Given the description of an element on the screen output the (x, y) to click on. 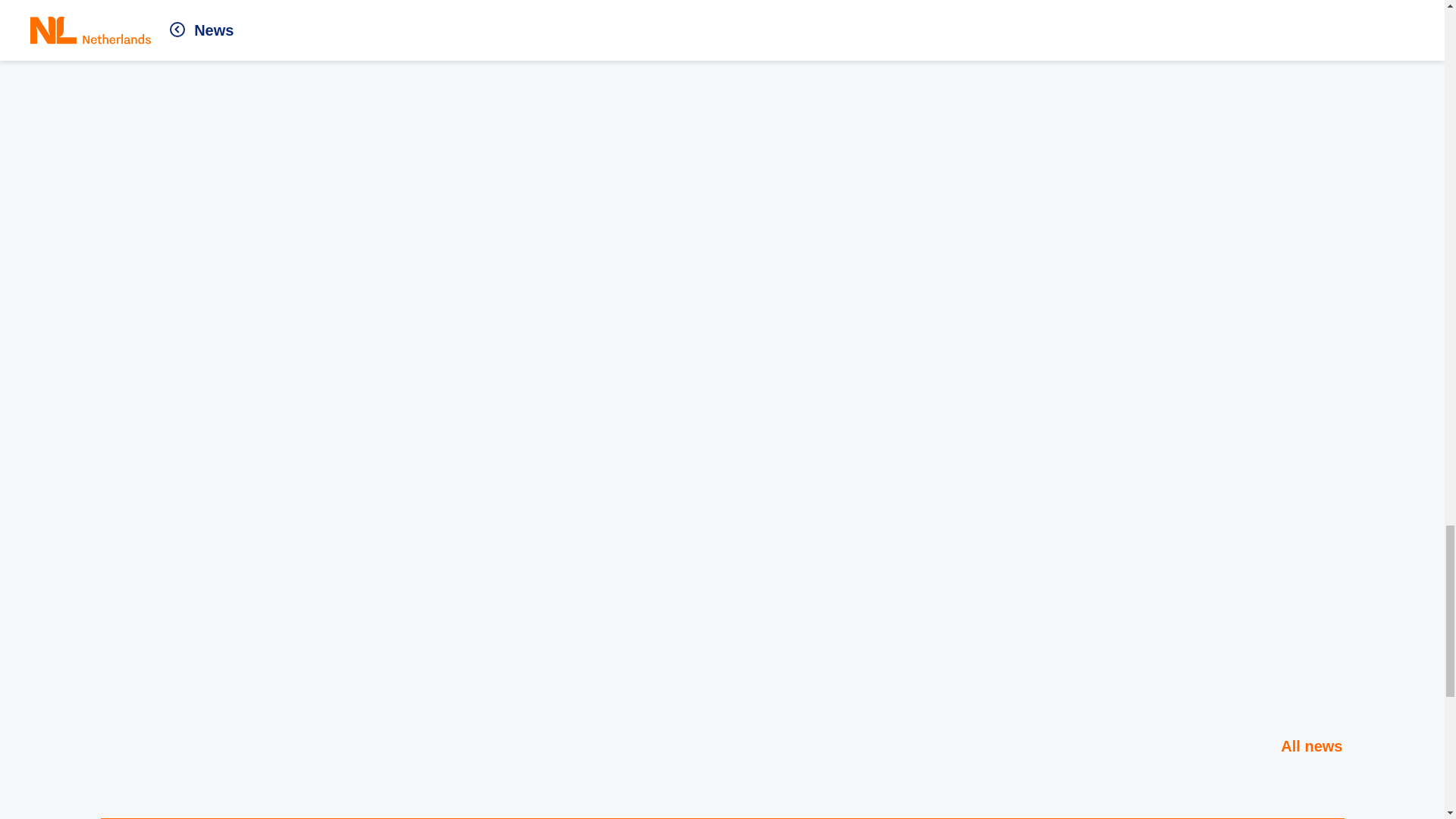
All news (1300, 745)
